Given the description of an element on the screen output the (x, y) to click on. 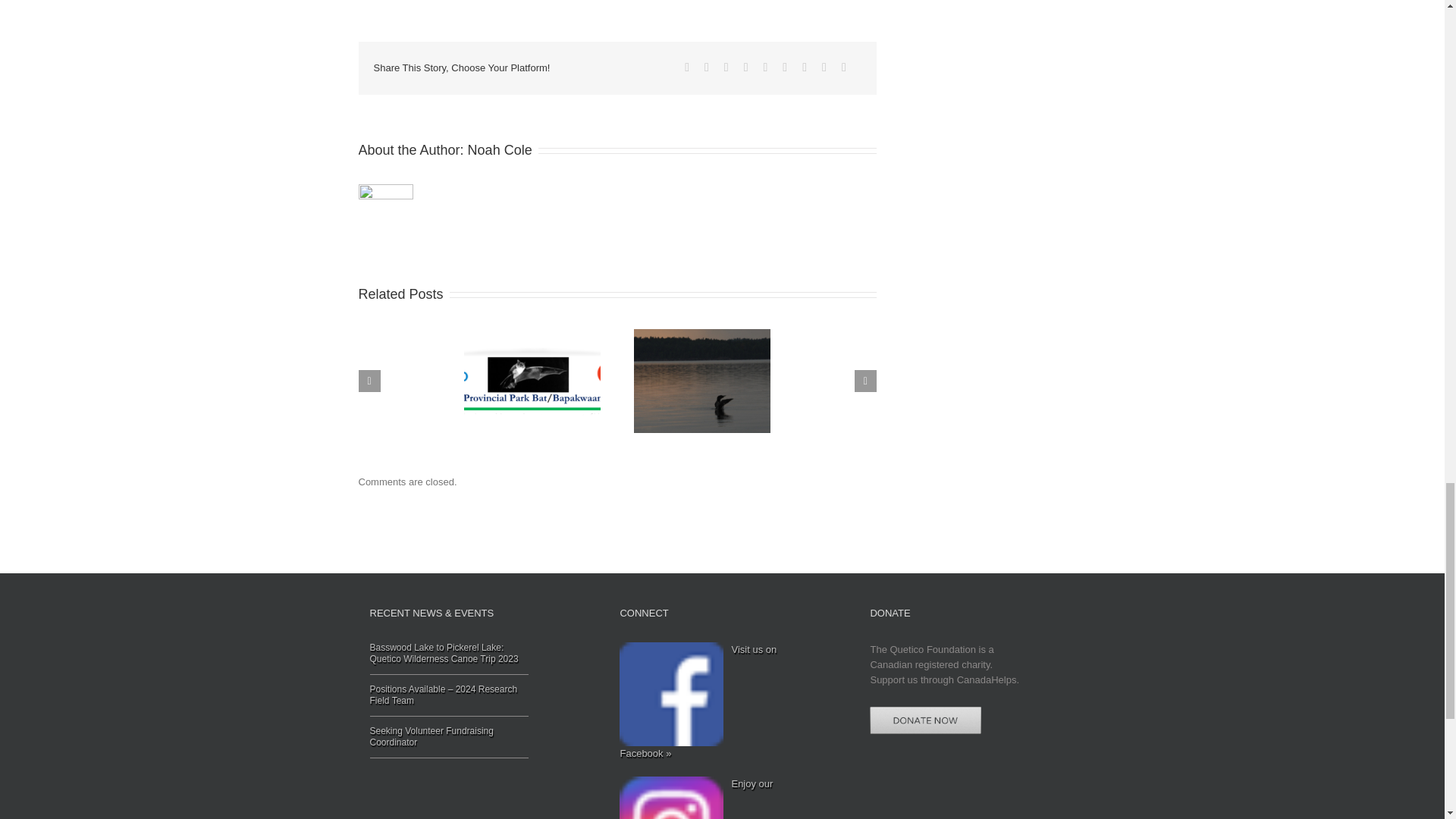
Posts by Noah Cole (499, 150)
